Given the description of an element on the screen output the (x, y) to click on. 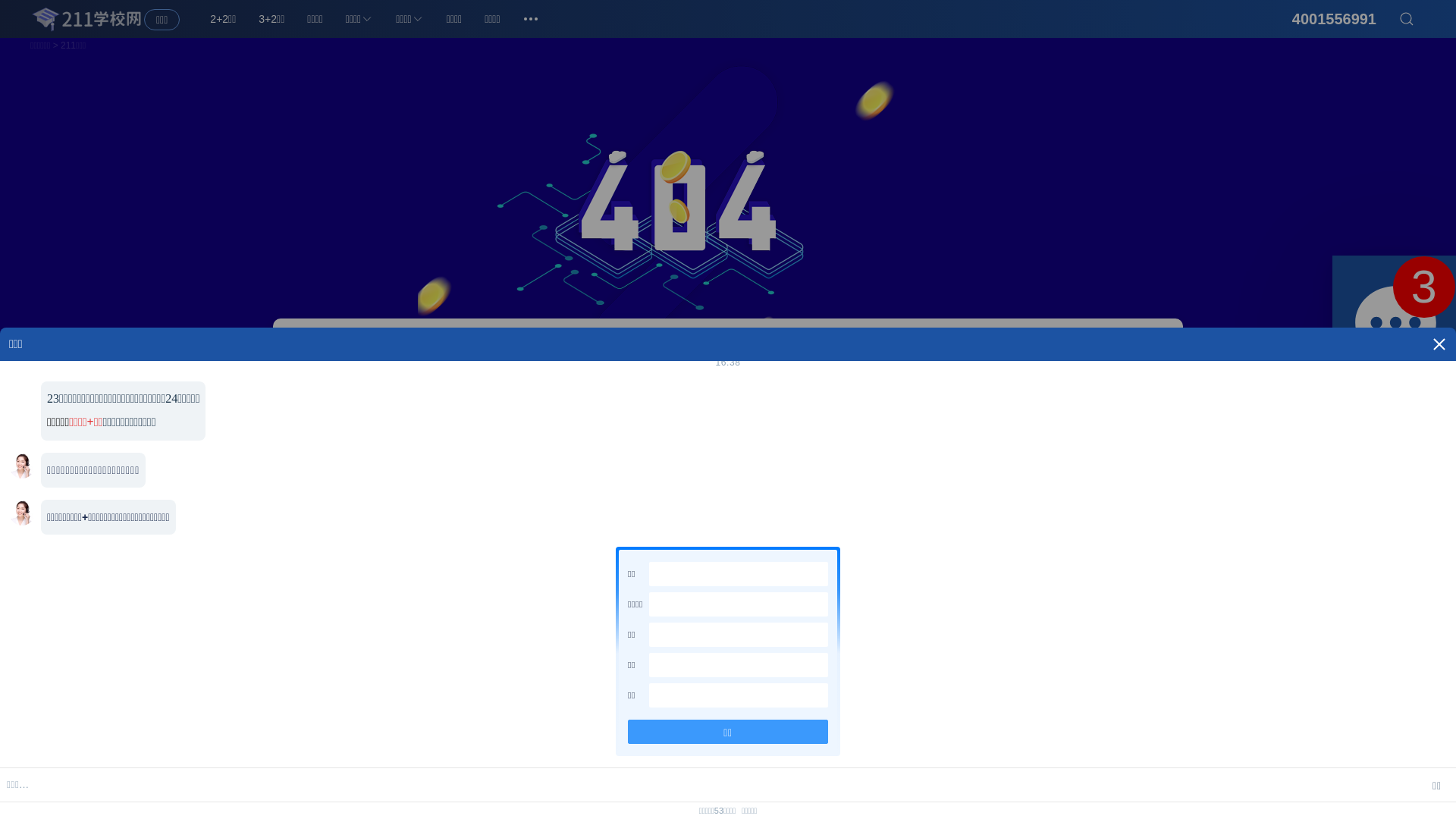
IBP Element type: text (852, 437)
2+2 Element type: text (394, 467)
1+1 Element type: text (453, 467)
ACCA Element type: text (886, 437)
HND Element type: text (792, 437)
2 Element type: text (1424, 287)
IFC Element type: text (823, 437)
1+2 Element type: text (482, 467)
3+2 Element type: text (424, 467)
1+3 Element type: text (365, 467)
IPMP Element type: text (925, 437)
2+3 Element type: text (541, 467)
1+4 Element type: text (512, 467)
